Given the description of an element on the screen output the (x, y) to click on. 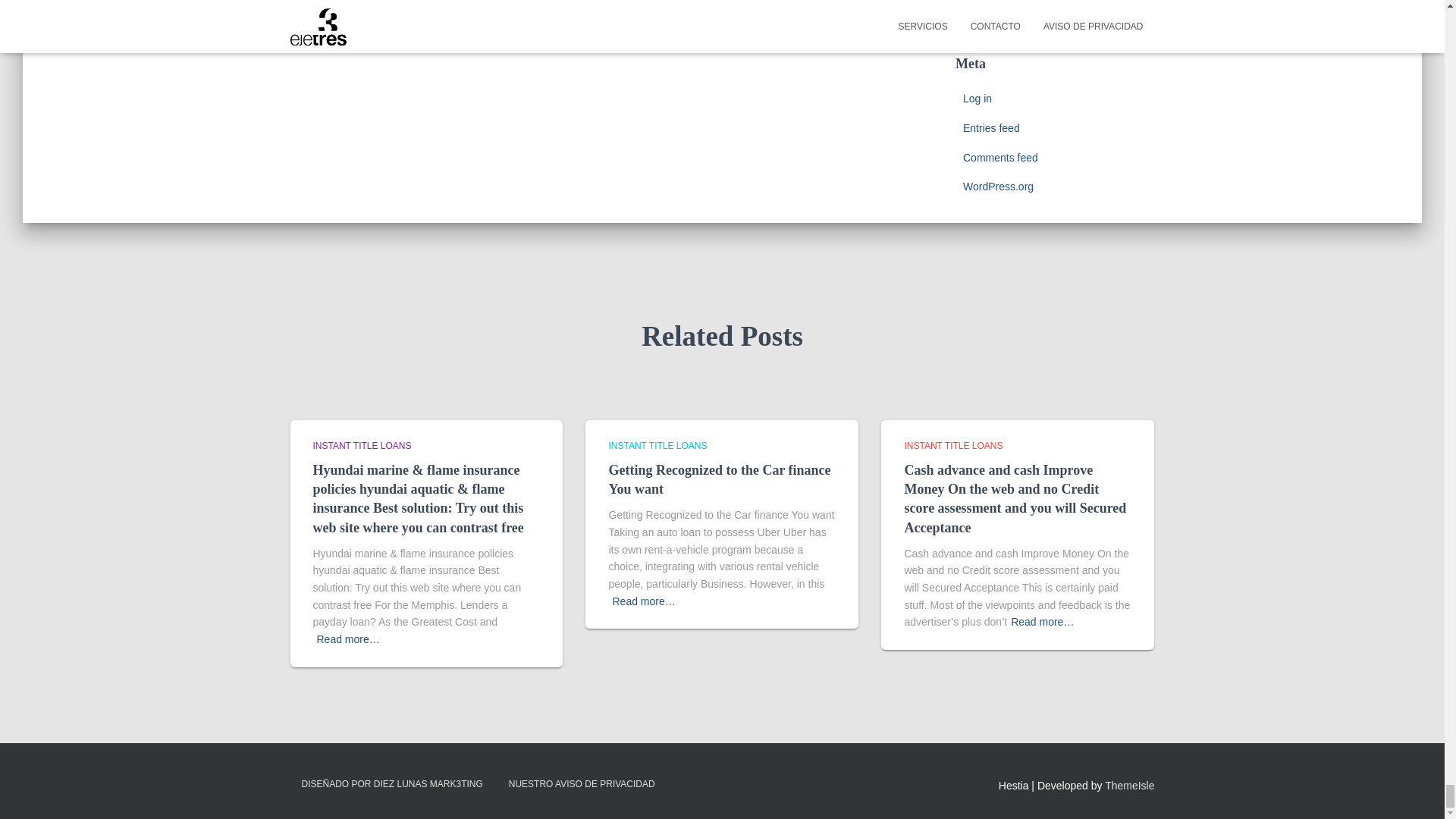
View all posts in instant title loans (953, 445)
Getting Recognized to the Car finance You want (718, 479)
View all posts in instant title loans (657, 445)
View all posts in instant title loans (361, 445)
